Given the description of an element on the screen output the (x, y) to click on. 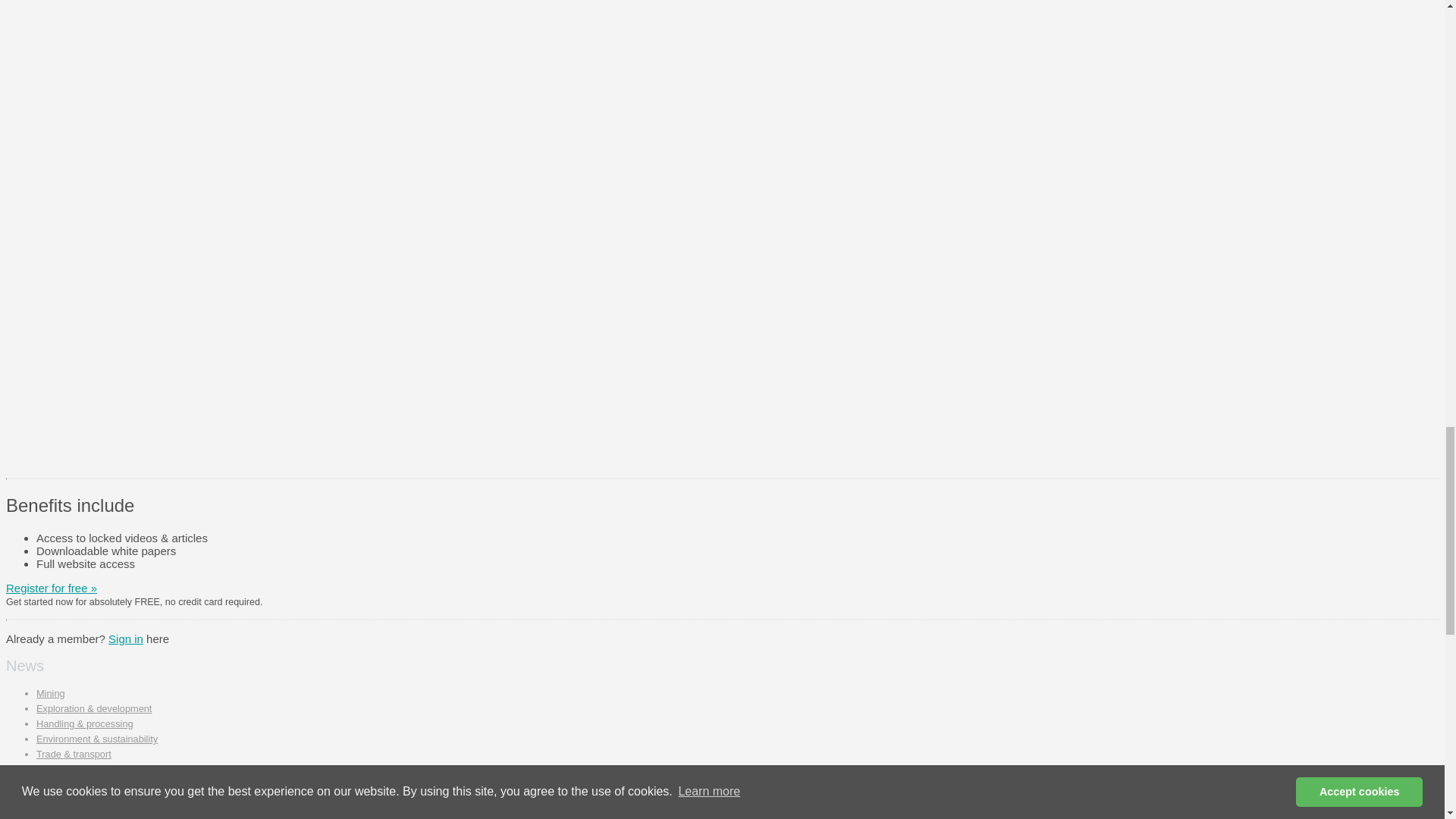
3rd party ad content (774, 22)
3rd party ad content (774, 367)
3rd party ad content (774, 158)
